Given the description of an element on the screen output the (x, y) to click on. 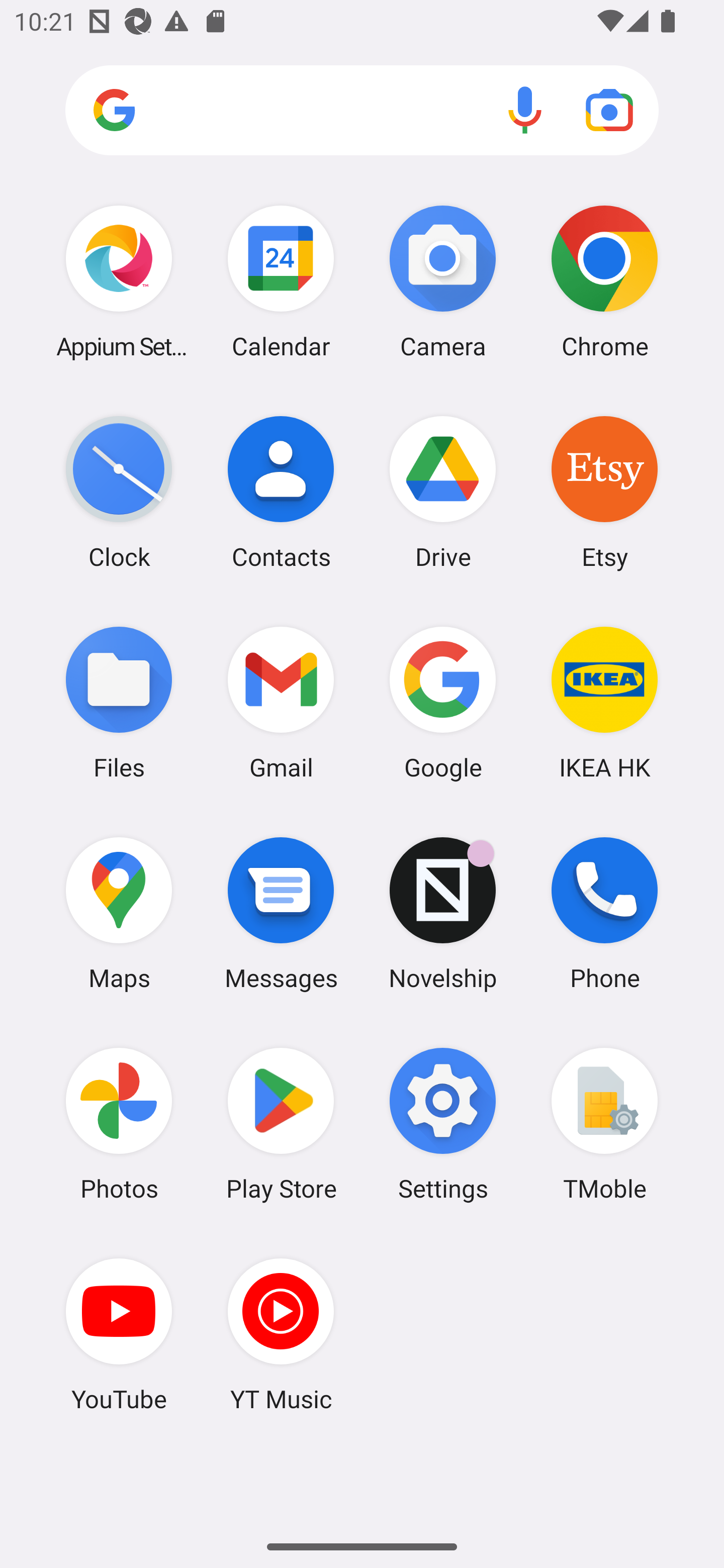
Search apps, web and more (361, 110)
Voice search (524, 109)
Google Lens (608, 109)
Appium Settings (118, 281)
Calendar (280, 281)
Camera (443, 281)
Chrome (604, 281)
Clock (118, 492)
Contacts (280, 492)
Drive (443, 492)
Etsy (604, 492)
Files (118, 702)
Gmail (280, 702)
Google (443, 702)
IKEA HK (604, 702)
Maps (118, 913)
Messages (280, 913)
Novelship Novelship has 1 notification (443, 913)
Phone (604, 913)
Photos (118, 1124)
Play Store (280, 1124)
Settings (443, 1124)
TMoble (604, 1124)
YouTube (118, 1334)
YT Music (280, 1334)
